Given the description of an element on the screen output the (x, y) to click on. 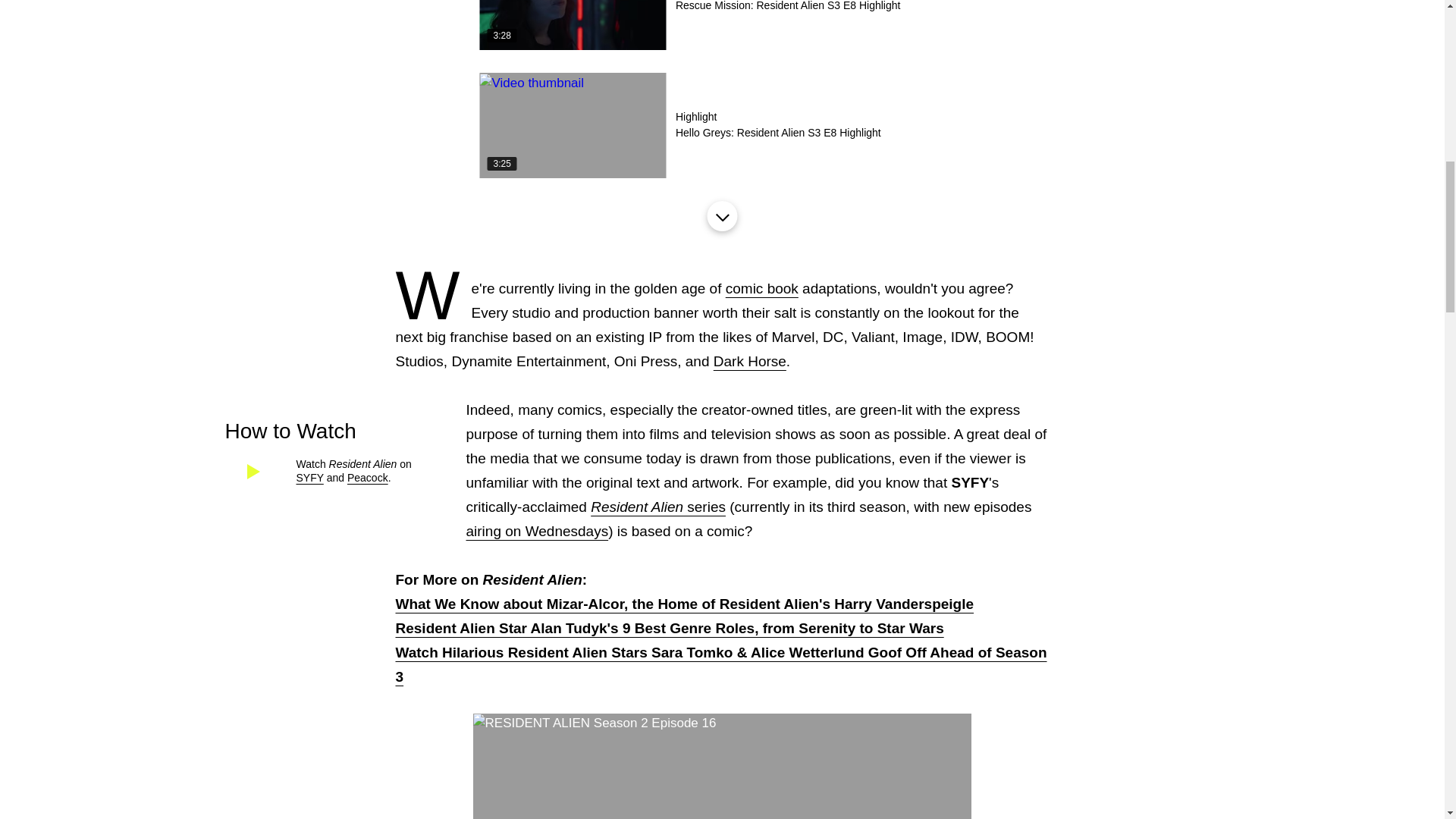
SYFY (309, 477)
Load More (721, 215)
Resident Alien series (721, 125)
Peacock (658, 506)
comic book (367, 477)
airing on Wednesdays (761, 288)
Dark Horse (536, 530)
